Given the description of an element on the screen output the (x, y) to click on. 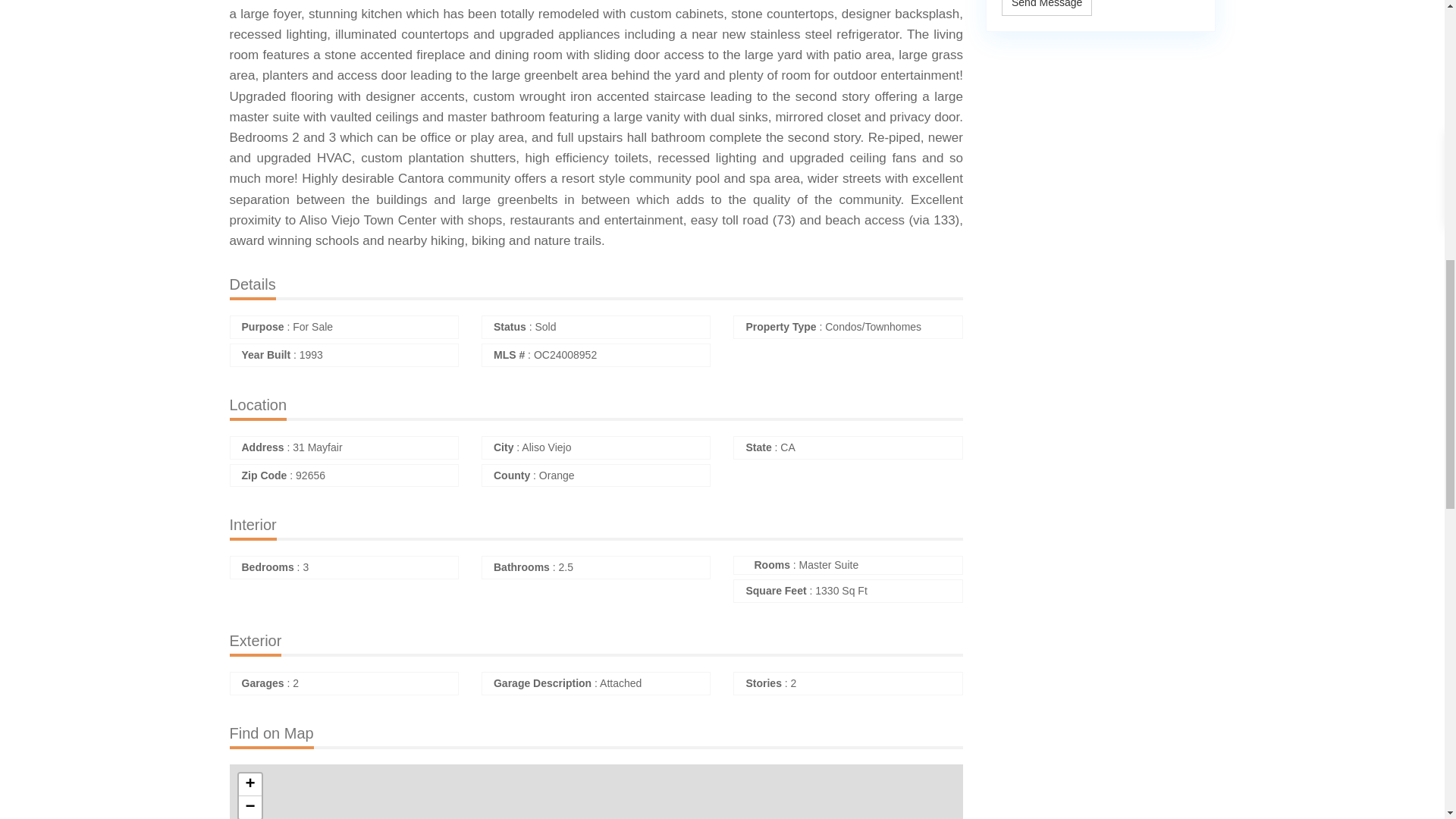
Zoom out (249, 807)
Zoom in (249, 784)
